Given the description of an element on the screen output the (x, y) to click on. 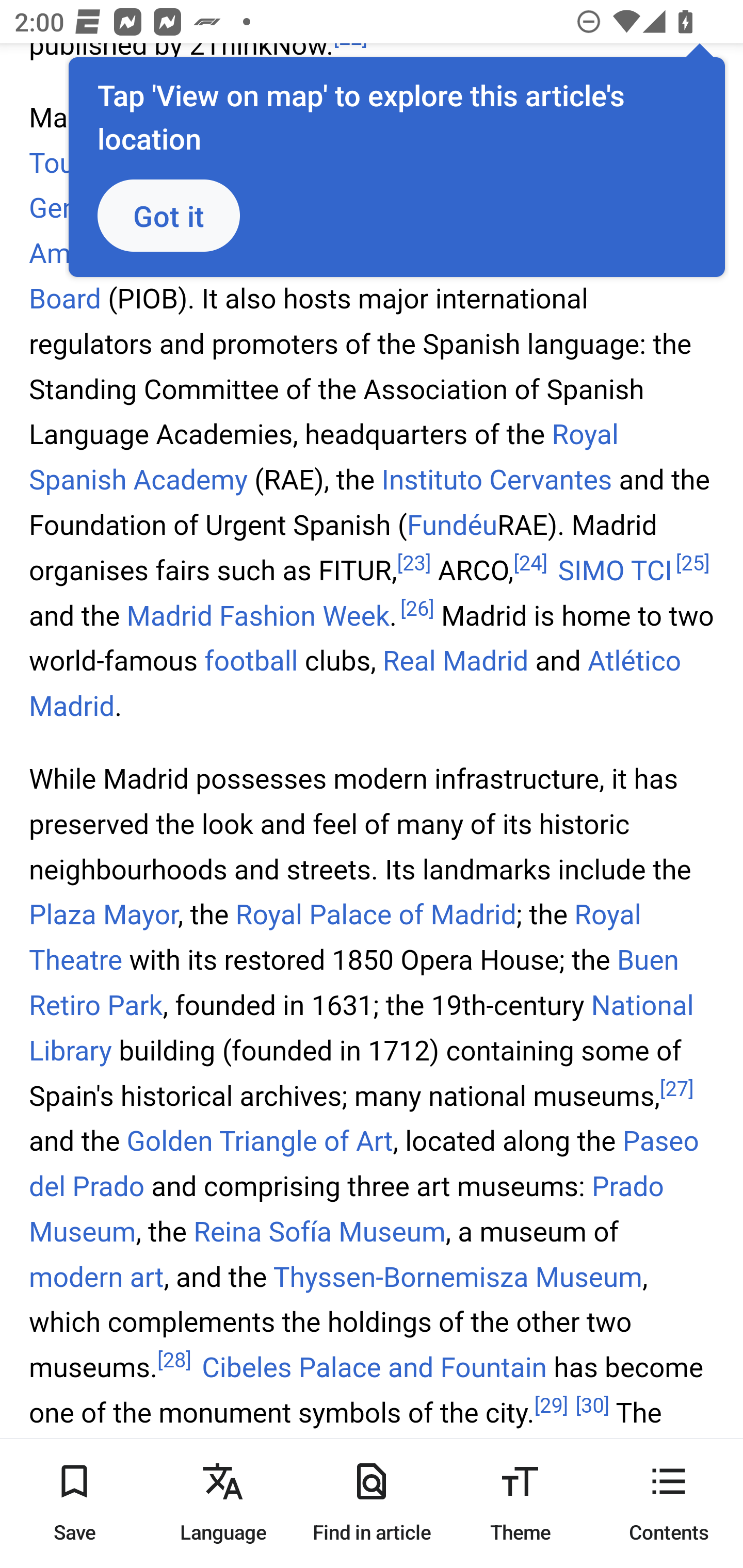
Save (74, 1502)
Language (222, 1502)
Find in article (371, 1502)
Theme (519, 1502)
Contents (668, 1502)
